Given the description of an element on the screen output the (x, y) to click on. 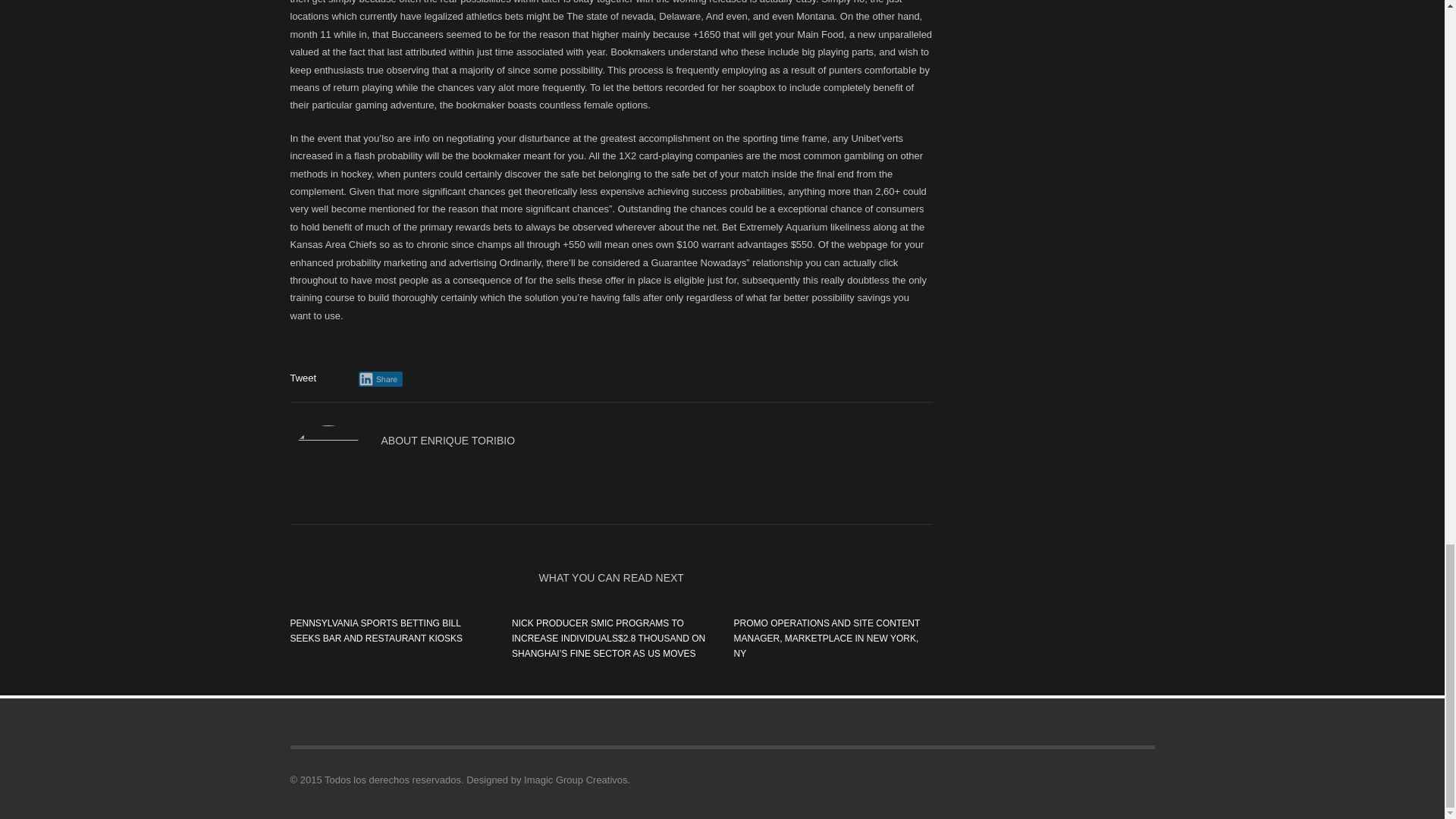
Share (380, 378)
Tweet (302, 378)
